Given the description of an element on the screen output the (x, y) to click on. 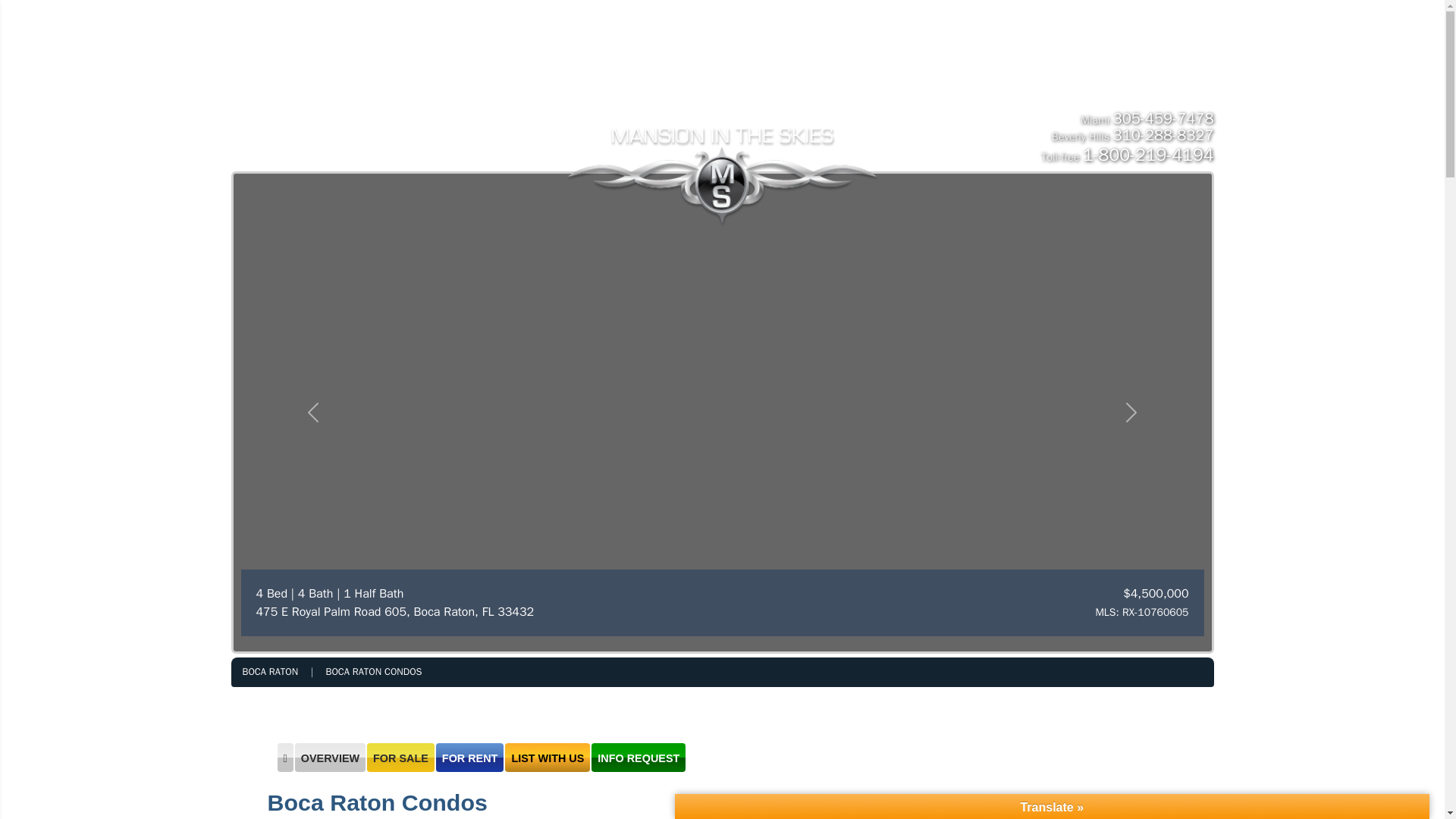
HOME (331, 25)
EXCLUSIVE LISTINGS (419, 25)
ASSOCIATES (1010, 25)
310-288-8327 (1163, 135)
CALIFORNIA (763, 58)
FLORIDA (669, 58)
LIST WITH US (815, 25)
Boca Raton Condos - Overview (373, 671)
Mansions in the Skies - Luxury Condo Real Estate Collection (722, 145)
305-459-7478 (1163, 117)
